Given the description of an element on the screen output the (x, y) to click on. 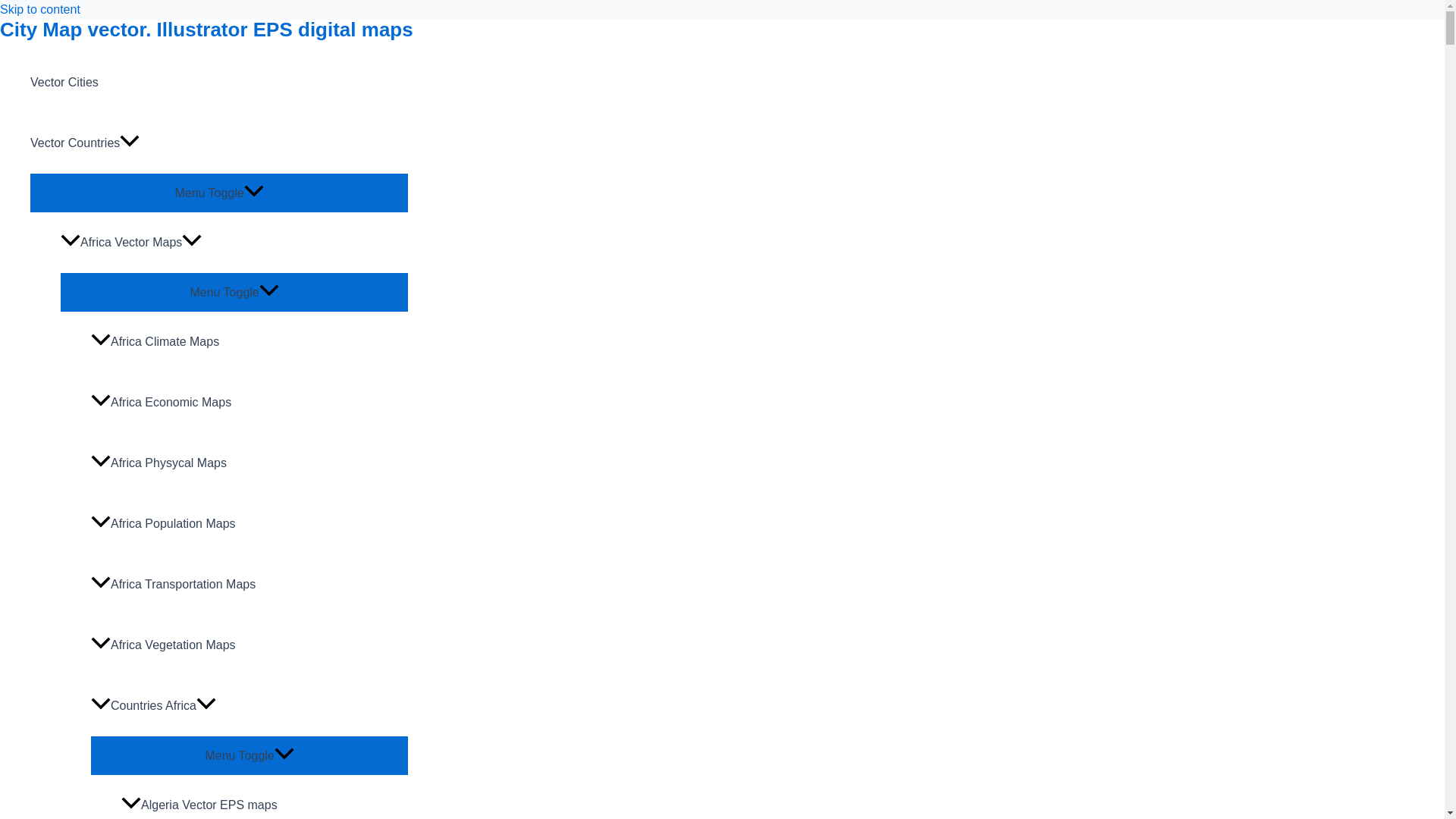
Menu Toggle (248, 754)
Countries Africa (248, 705)
Vector Cities (218, 82)
Africa Vegetation Maps (248, 645)
Africa Vector Maps (234, 242)
Algeria Vector EPS maps (263, 796)
Africa Climate Maps (248, 342)
Africa Transportation Maps (248, 584)
Menu Toggle (234, 291)
Africa Economic Maps (248, 402)
Africa Physycal Maps (248, 463)
Africa Population Maps (248, 523)
City Map vector. Illustrator EPS digital maps (206, 29)
Skip to content (40, 9)
Skip to content (40, 9)
